Given the description of an element on the screen output the (x, y) to click on. 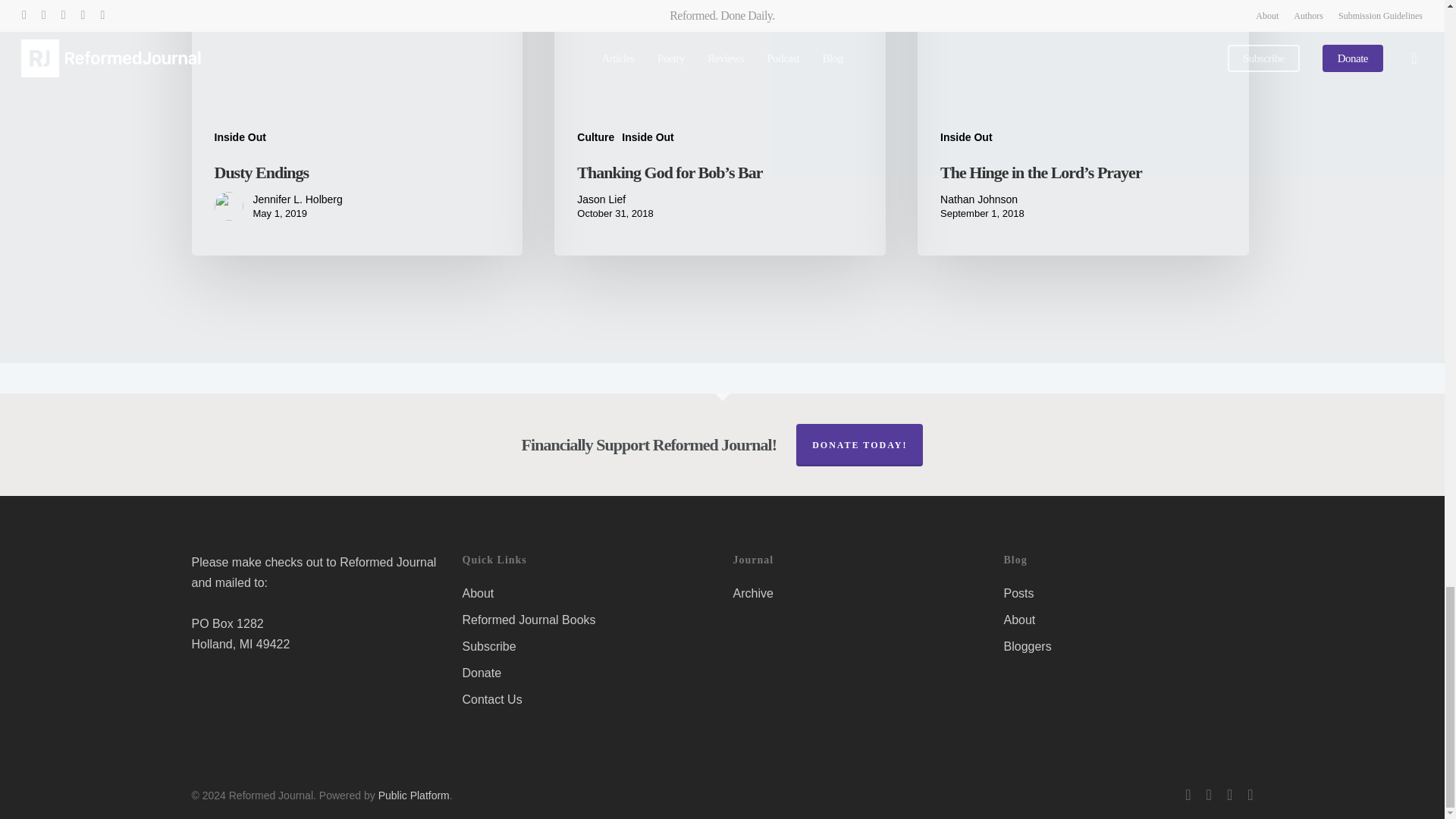
Jennifer L. Holberg (297, 199)
Inside Out (239, 137)
Culture (595, 137)
Inside Out (965, 137)
Jason Lief (614, 199)
Inside Out (646, 137)
